Given the description of an element on the screen output the (x, y) to click on. 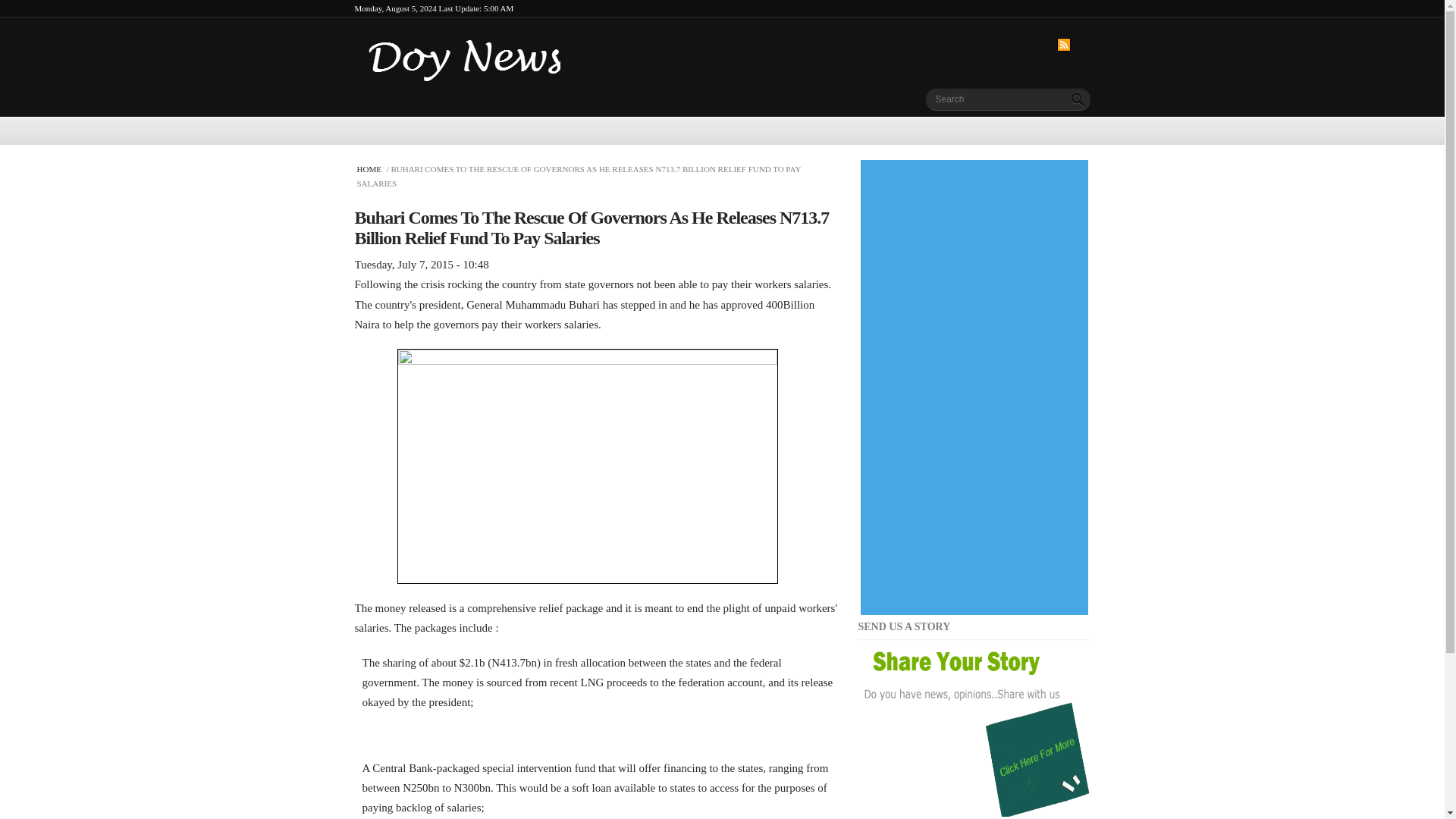
HOME (370, 168)
Search (1077, 98)
Return to the Doy News home page (467, 46)
Search (1077, 98)
Enter the terms you wish to search for. (994, 97)
